Given the description of an element on the screen output the (x, y) to click on. 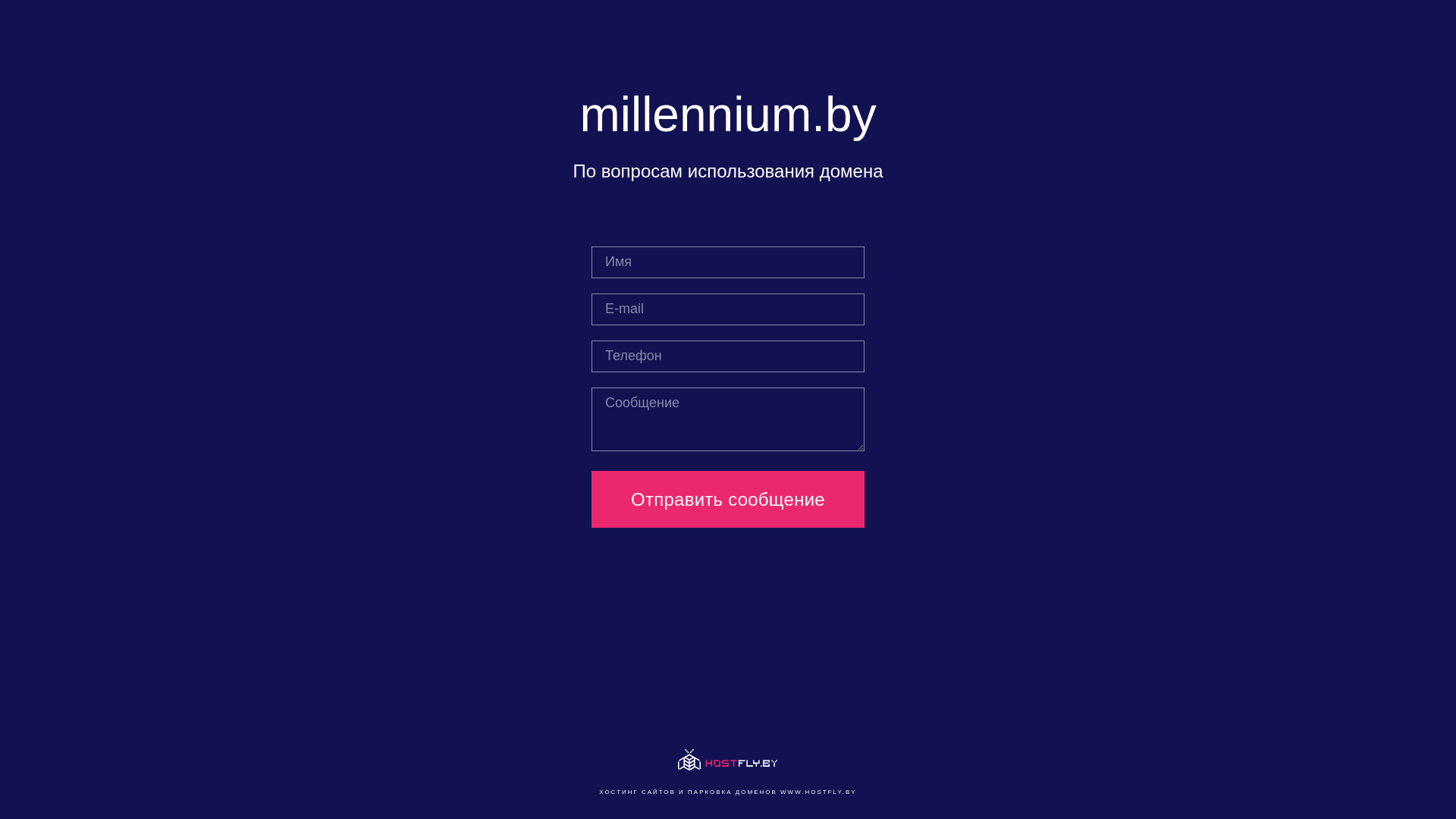
WWW.HOSTFLY.BY Element type: text (818, 791)
